Given the description of an element on the screen output the (x, y) to click on. 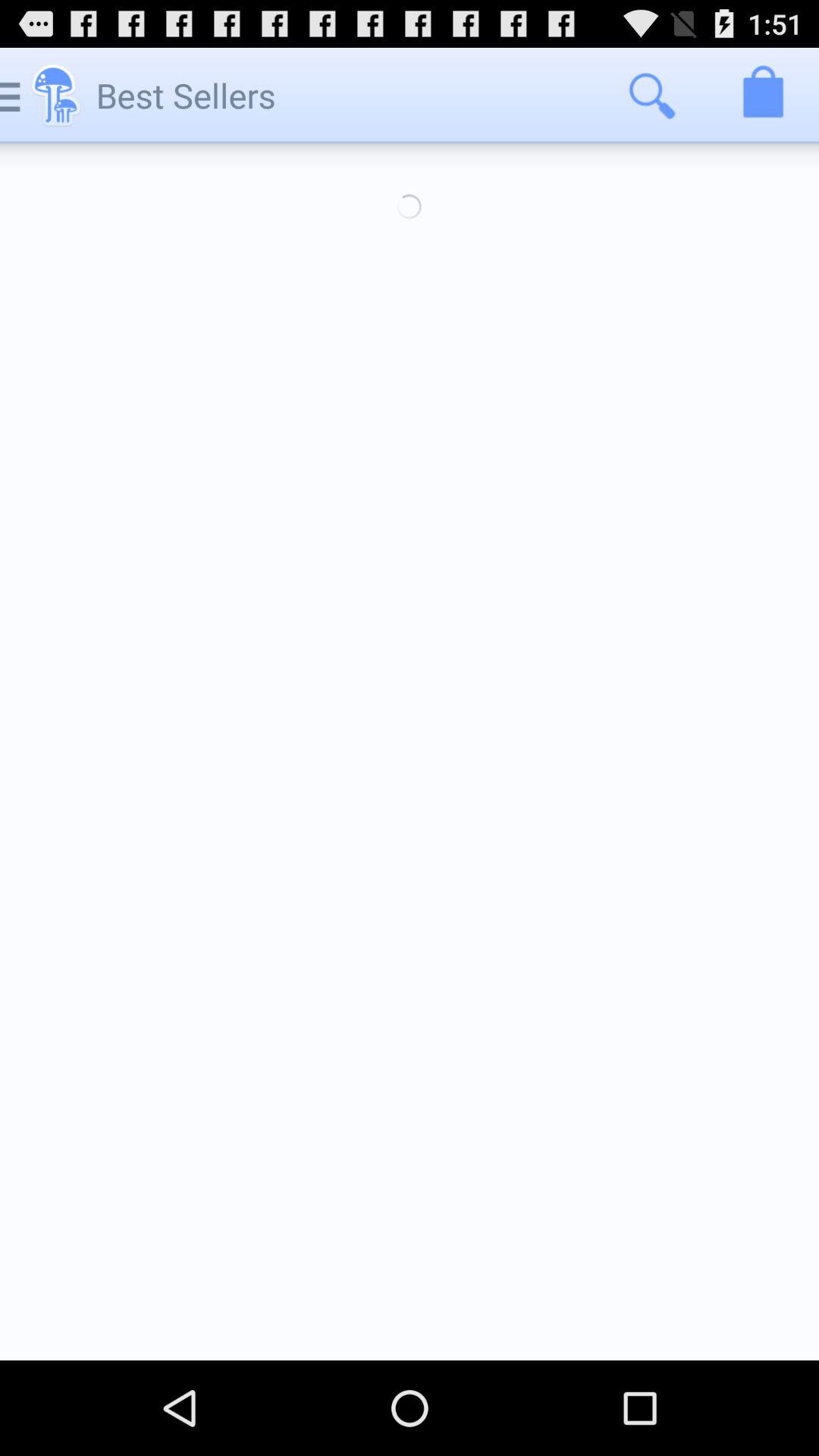
open the item at the top (409, 206)
